Given the description of an element on the screen output the (x, y) to click on. 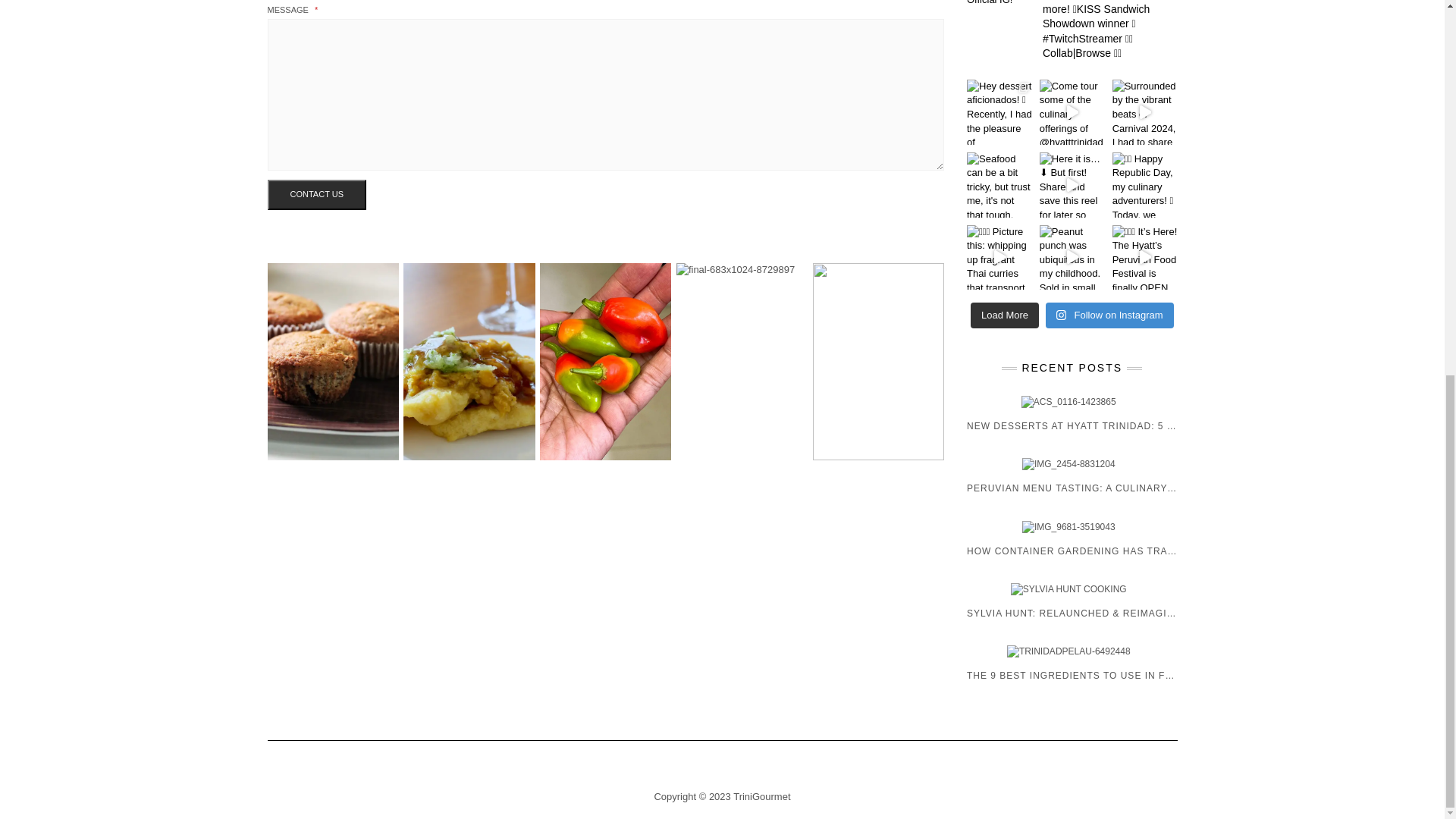
NEW DESSERTS AT HYATT TRINIDAD: 5 SWEET ESCAPES UNVEILED! (1071, 413)
PERUVIAN MENU TASTING: A CULINARY JOURNEY TO REMEMBER (1071, 476)
CONTACT US (316, 194)
THE 9 BEST INGREDIENTS TO USE IN FREEZER MEALS (1071, 663)
HOW CONTAINER GARDENING HAS TRANSFORMED MY MY LIFE (1071, 538)
Load More (1005, 315)
Follow on Instagram (1109, 315)
